Given the description of an element on the screen output the (x, y) to click on. 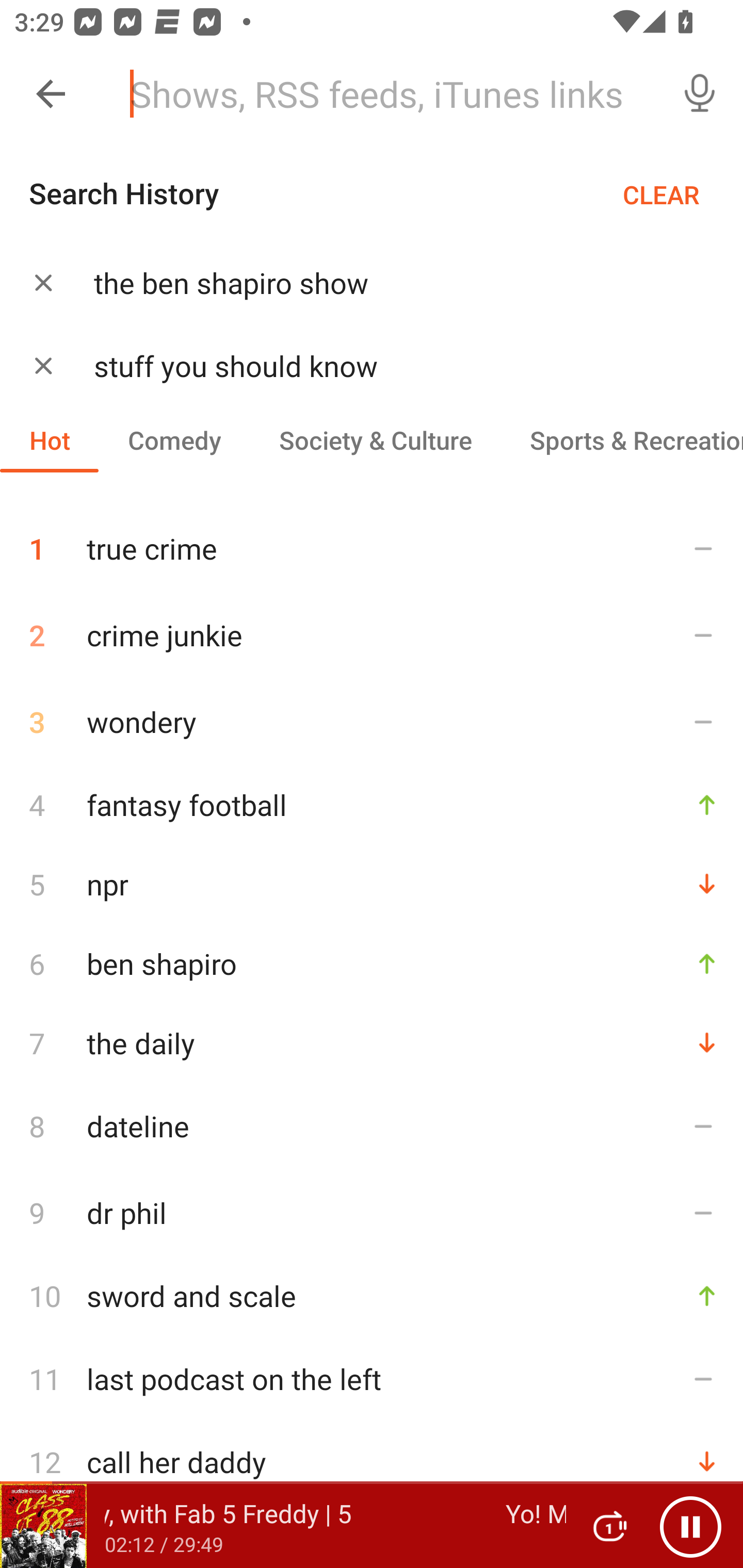
Collapse (50, 93)
Voice Search (699, 93)
Shows, RSS feeds, iTunes links (385, 94)
CLEAR (660, 194)
the ben shapiro show (393, 282)
 Clear (43, 282)
stuff you should know (393, 365)
 Clear (43, 365)
Hot (49, 439)
Comedy (173, 439)
Society & Culture (374, 439)
Sports & Recreation (621, 439)
1 true crime (371, 540)
2 crime junkie (371, 634)
3 wondery (371, 721)
4 fantasy football (371, 804)
5 npr (371, 883)
6 ben shapiro (371, 963)
7 the daily (371, 1042)
8 dateline (371, 1125)
9 dr phil (371, 1212)
10 sword and scale (371, 1295)
11 last podcast on the left (371, 1378)
12 call her daddy (371, 1462)
Pause (690, 1526)
